Given the description of an element on the screen output the (x, y) to click on. 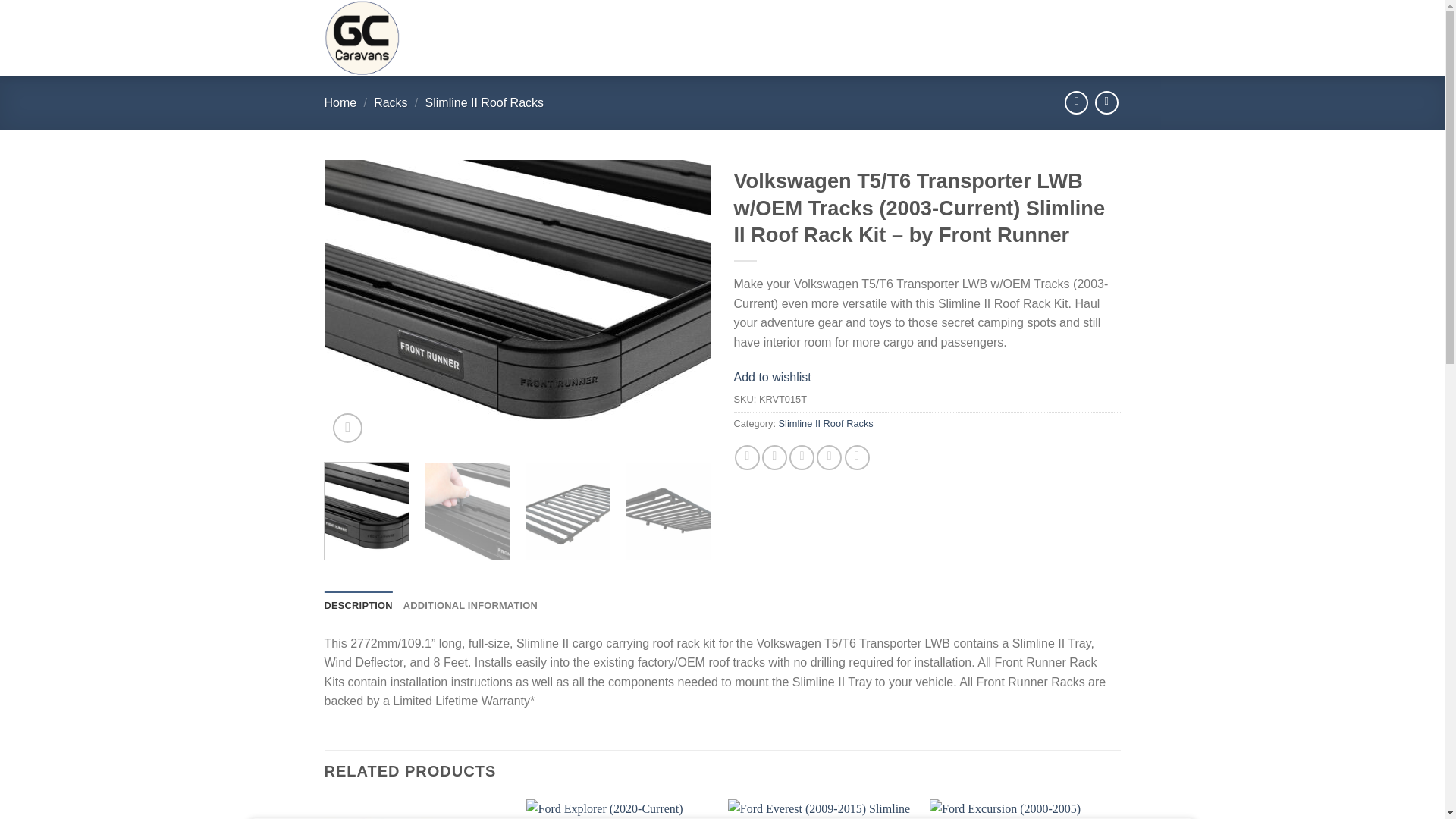
VEHICLE ACCESSORIES (960, 37)
CAMPING ACCESSORIES (829, 37)
Home (340, 102)
Slimline II Roof Racks (484, 102)
Zoom (347, 428)
Share on Twitter (774, 457)
Add to wishlist (771, 377)
PRE-OWNED CARAVANS (697, 37)
WORKSHOP (1060, 37)
GC Caravans (400, 38)
Racks (390, 102)
NEW CARAVANS (582, 37)
HOME (513, 37)
Share on Facebook (747, 457)
